Given the description of an element on the screen output the (x, y) to click on. 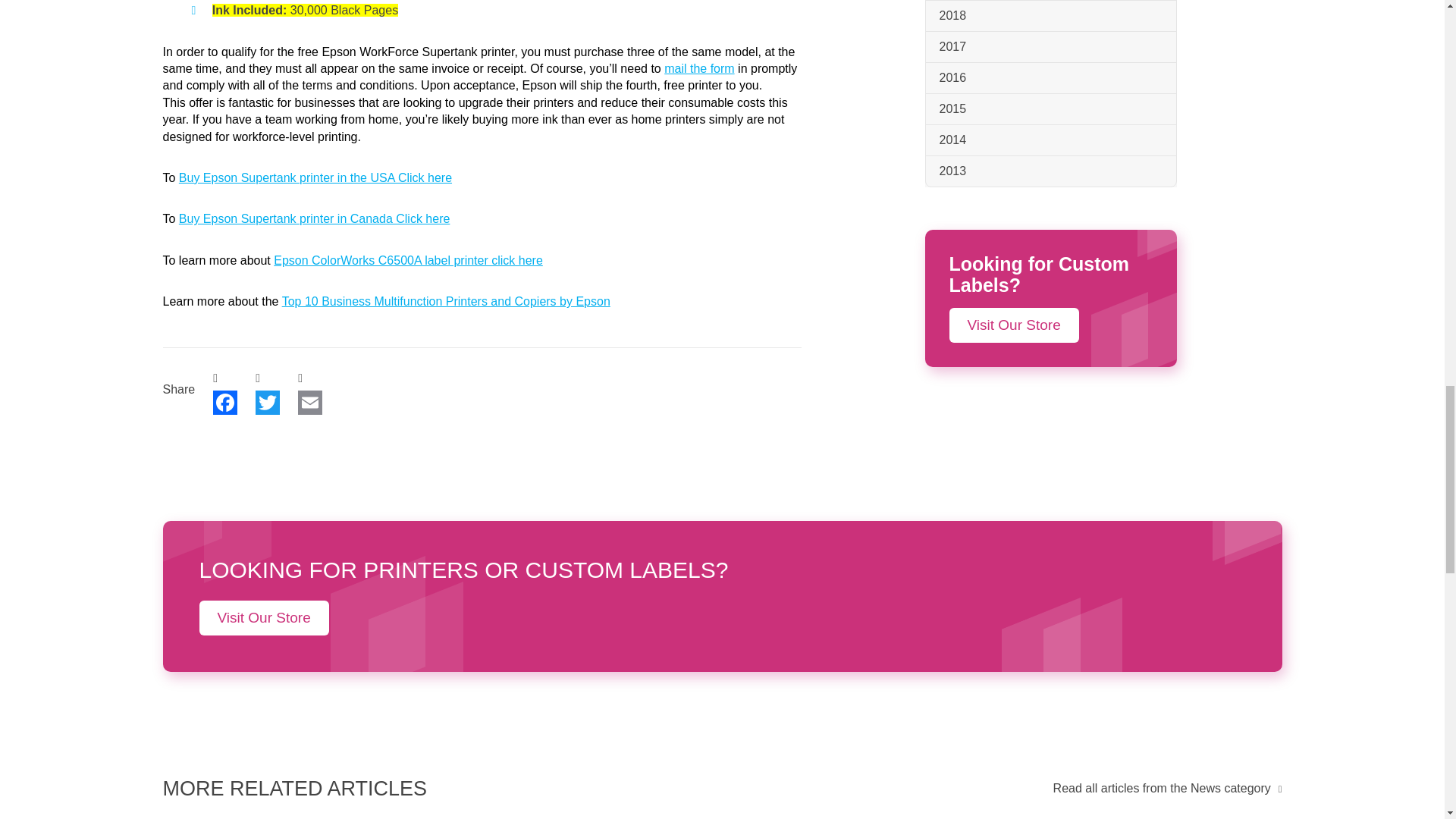
Buy Epson Supertank printer in Canada Click here (314, 218)
Epson ColorWorks C6500A label printer (408, 259)
mail the form (698, 68)
Epson ColorWorks C6500A label printer click here (408, 259)
Buy Epson Supertank printer in the USA Click here (315, 177)
Buy Epson Supertank printer in the USA Click here (315, 177)
Top 10 Business Multifunction Printers and Copiers by Epson (446, 300)
Buy Epson Supertank printer in Canada Click here (314, 218)
Top 10 Business Multifunction Printers and Copiers by Epson (446, 300)
